Given the description of an element on the screen output the (x, y) to click on. 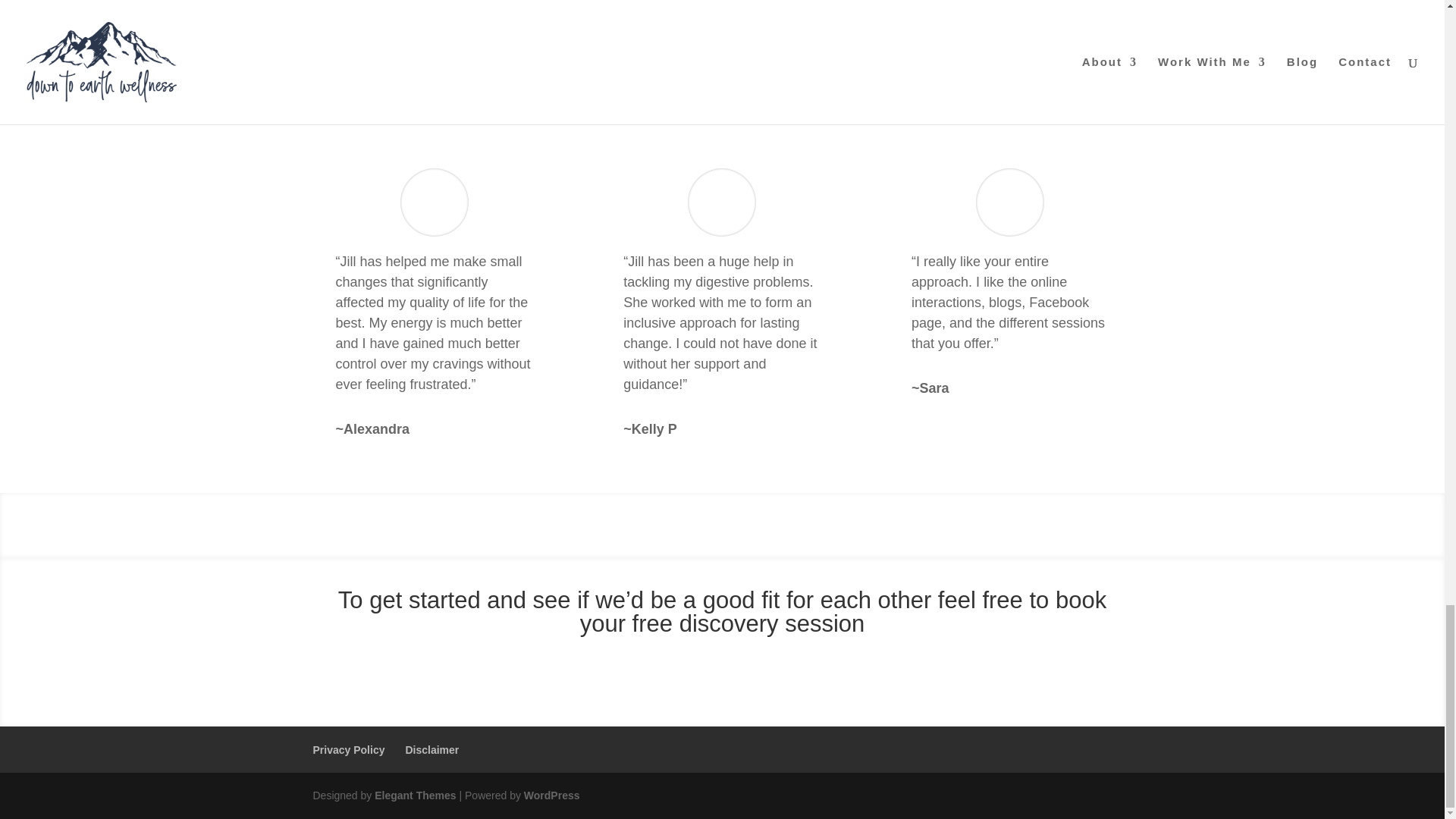
Privacy Policy (348, 749)
Disclaimer (431, 749)
WordPress (551, 795)
Book your FREE discovery session now (721, 677)
Premium WordPress Themes (414, 795)
Elegant Themes (414, 795)
